Given the description of an element on the screen output the (x, y) to click on. 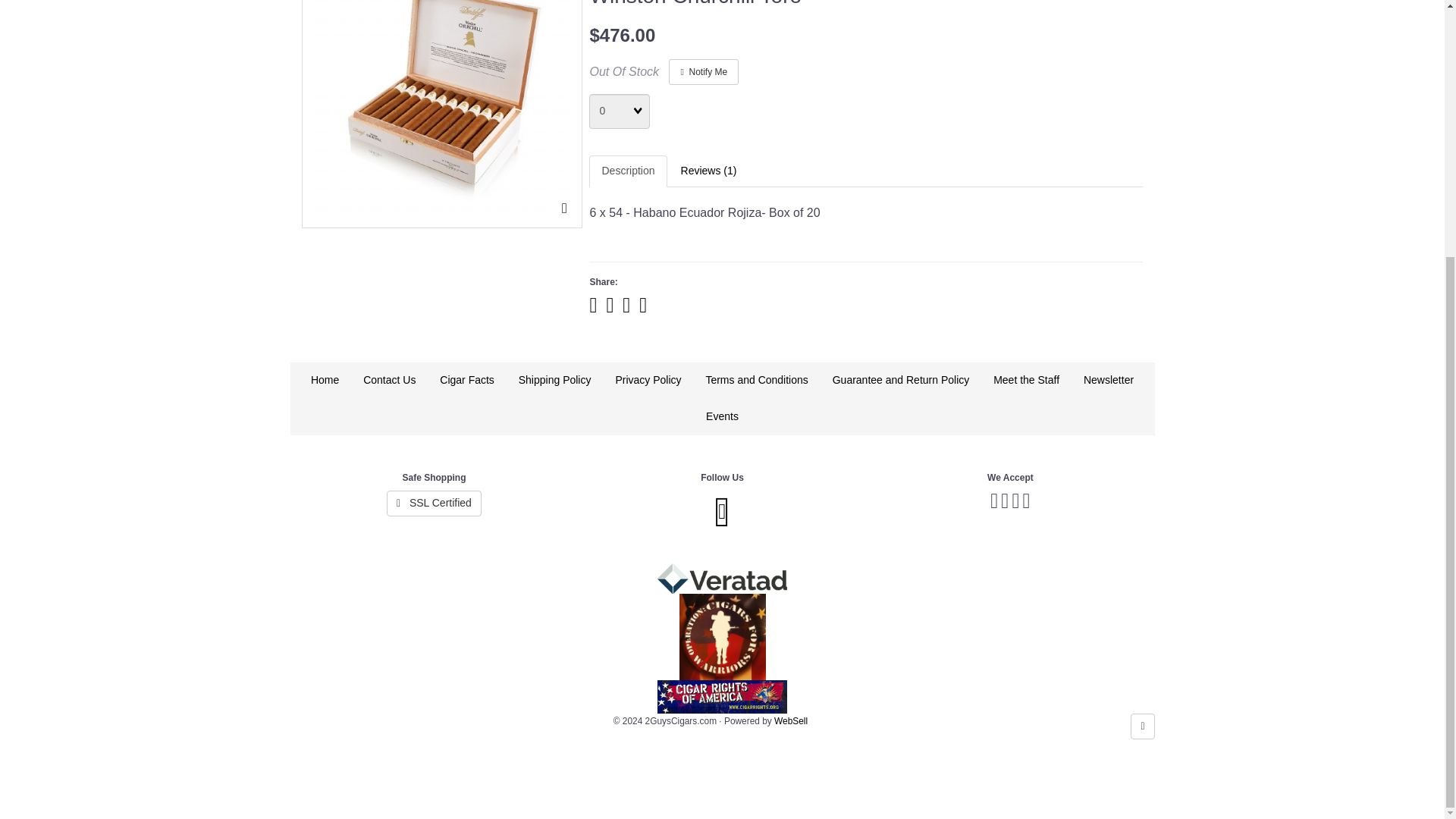
Winston Churchill Toro (441, 106)
Description (627, 171)
  Notify Me (703, 71)
